Given the description of an element on the screen output the (x, y) to click on. 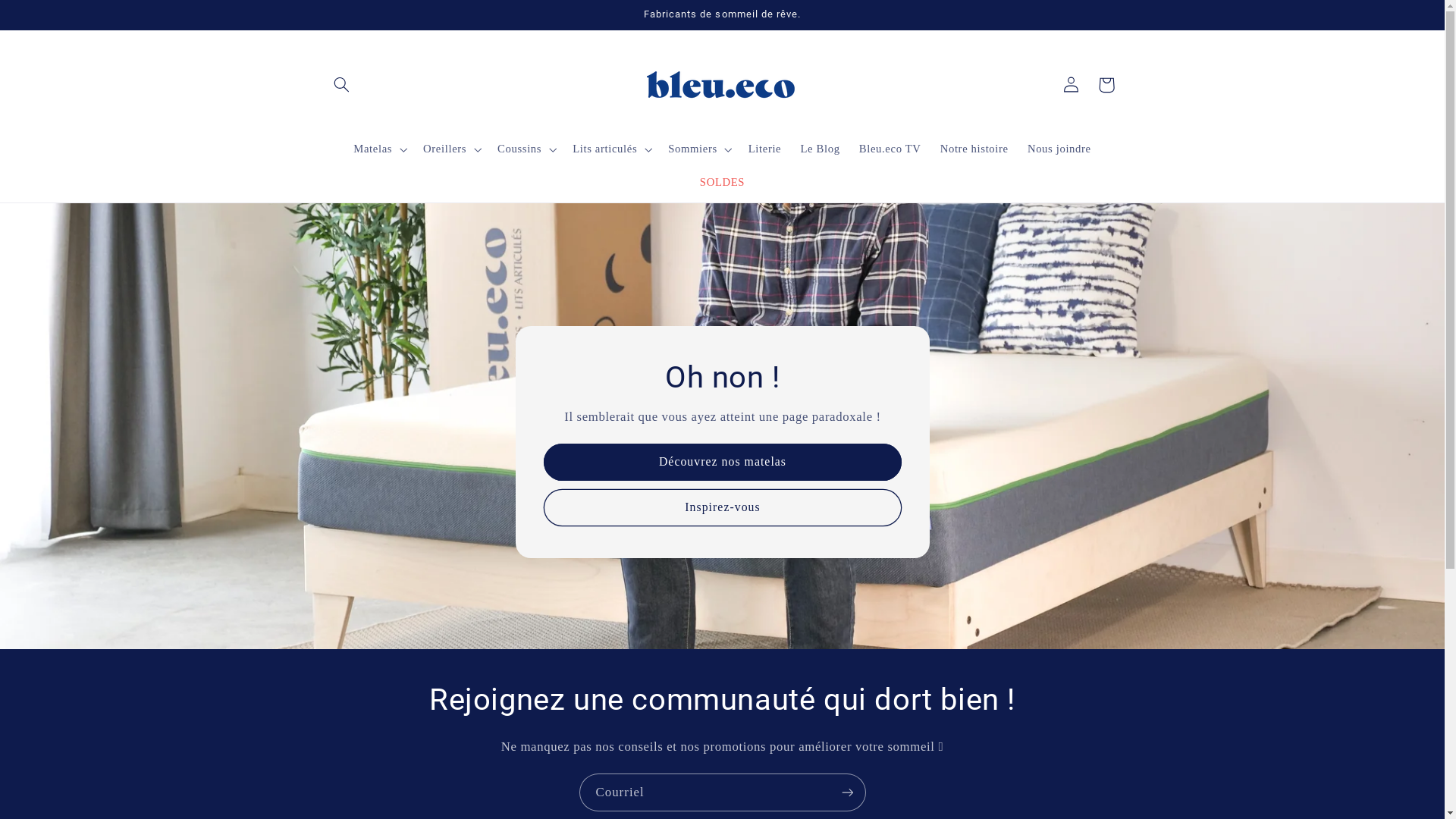
Inspirez-vous Element type: text (721, 507)
Connexion Element type: text (1070, 84)
Bleu.eco TV Element type: text (889, 149)
Literie Element type: text (764, 149)
Panier Element type: text (1105, 84)
Le Blog Element type: text (819, 149)
SOLDES Element type: text (721, 182)
Notre histoire Element type: text (973, 149)
Nous joindre Element type: text (1058, 149)
